Given the description of an element on the screen output the (x, y) to click on. 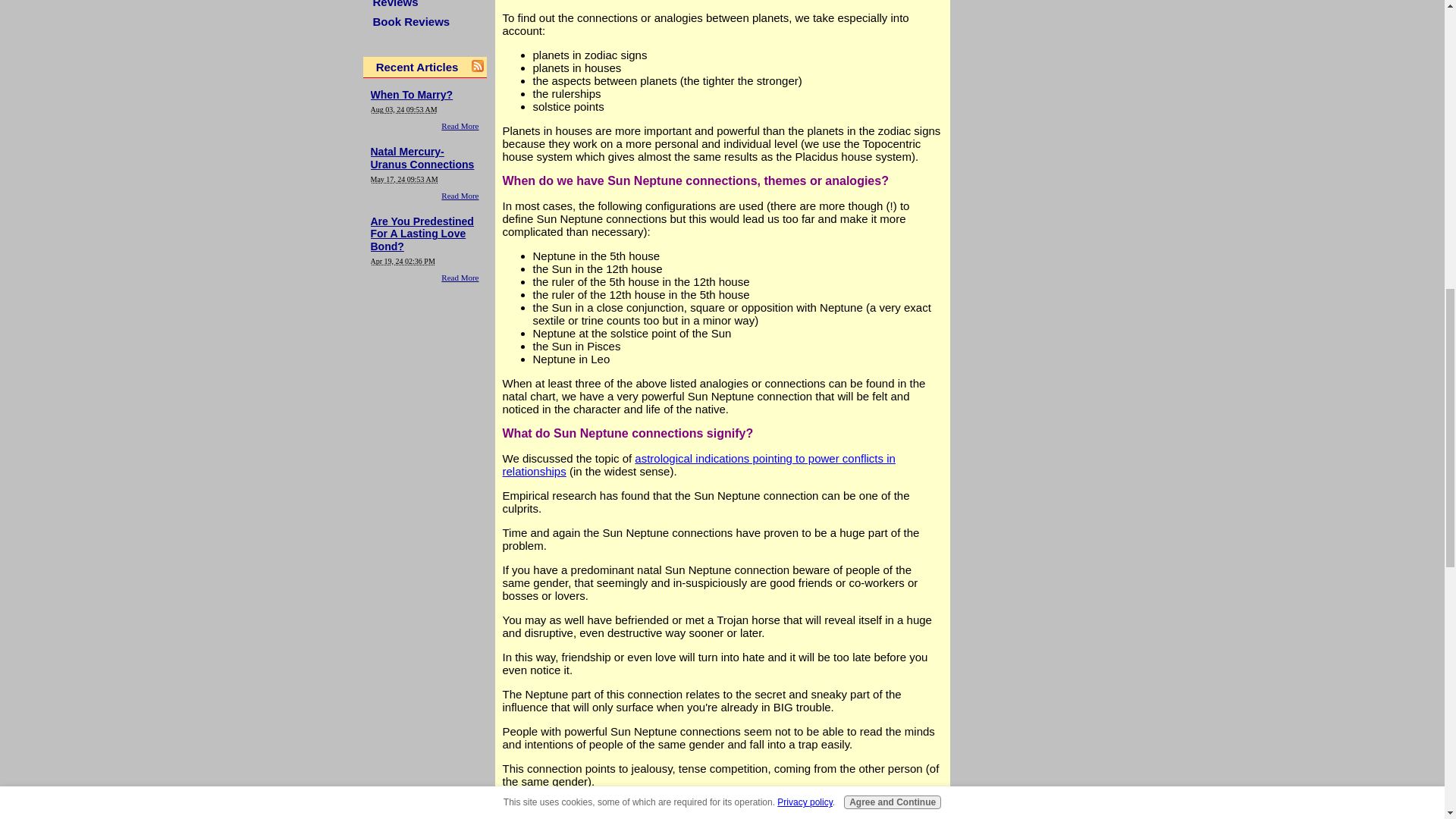
2024-05-17T09:53:29-0400 (403, 179)
2024-04-19T14:36:54-0400 (401, 261)
2024-08-03T09:53:15-0400 (402, 109)
